Given the description of an element on the screen output the (x, y) to click on. 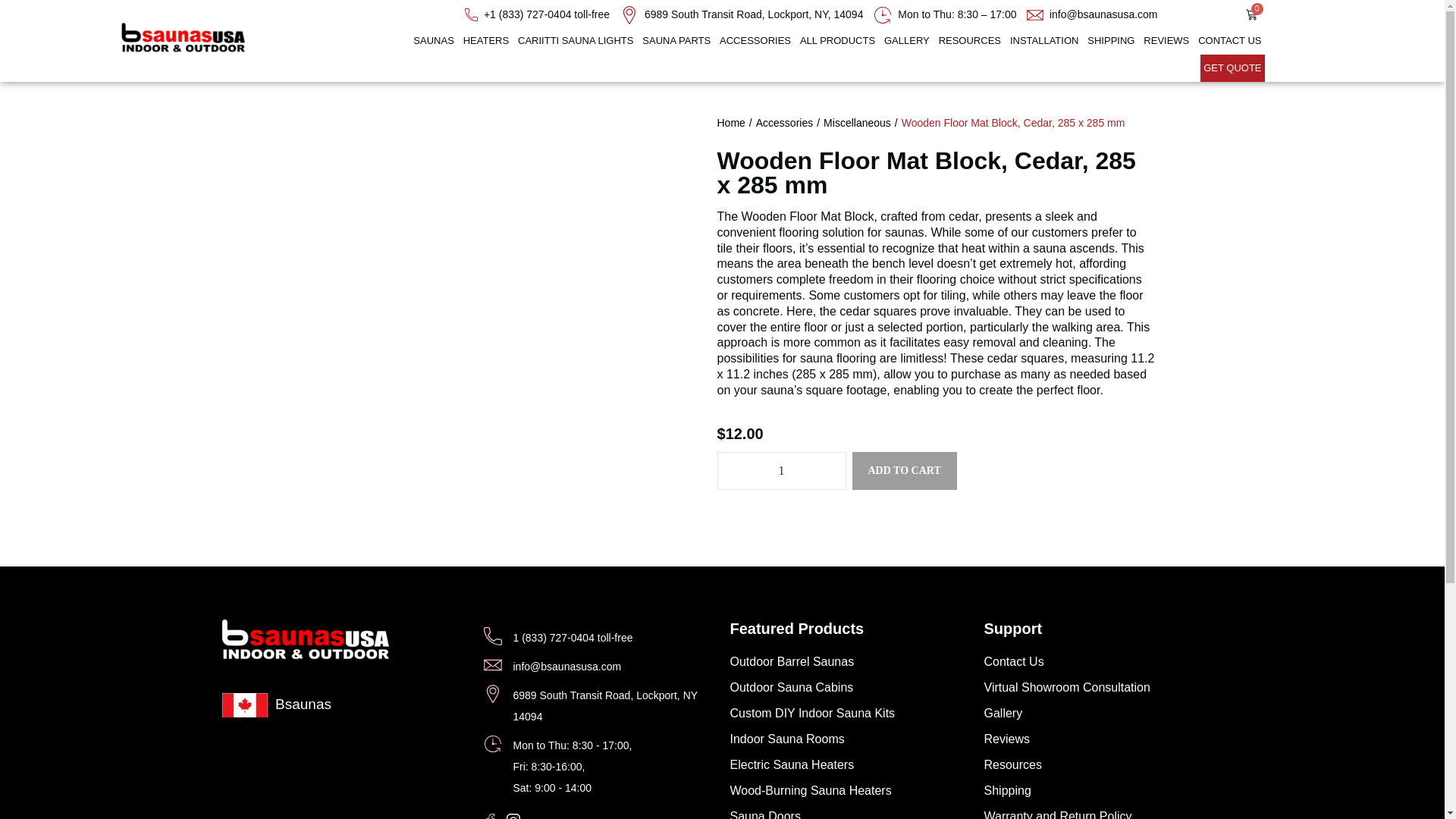
ACCESSORIES (754, 40)
SAUNAS (433, 40)
6989 South Transit Road, Lockport, NY, 14094 (741, 14)
ALL PRODUCTS (836, 40)
1 (780, 470)
HEATERS (486, 40)
Mon to Thu: 8:30 - 17:00 (944, 14)
6989 South Transit Road, Lockport, NY, 14094 (741, 14)
Heaters (486, 40)
Saunas (433, 40)
